Given the description of an element on the screen output the (x, y) to click on. 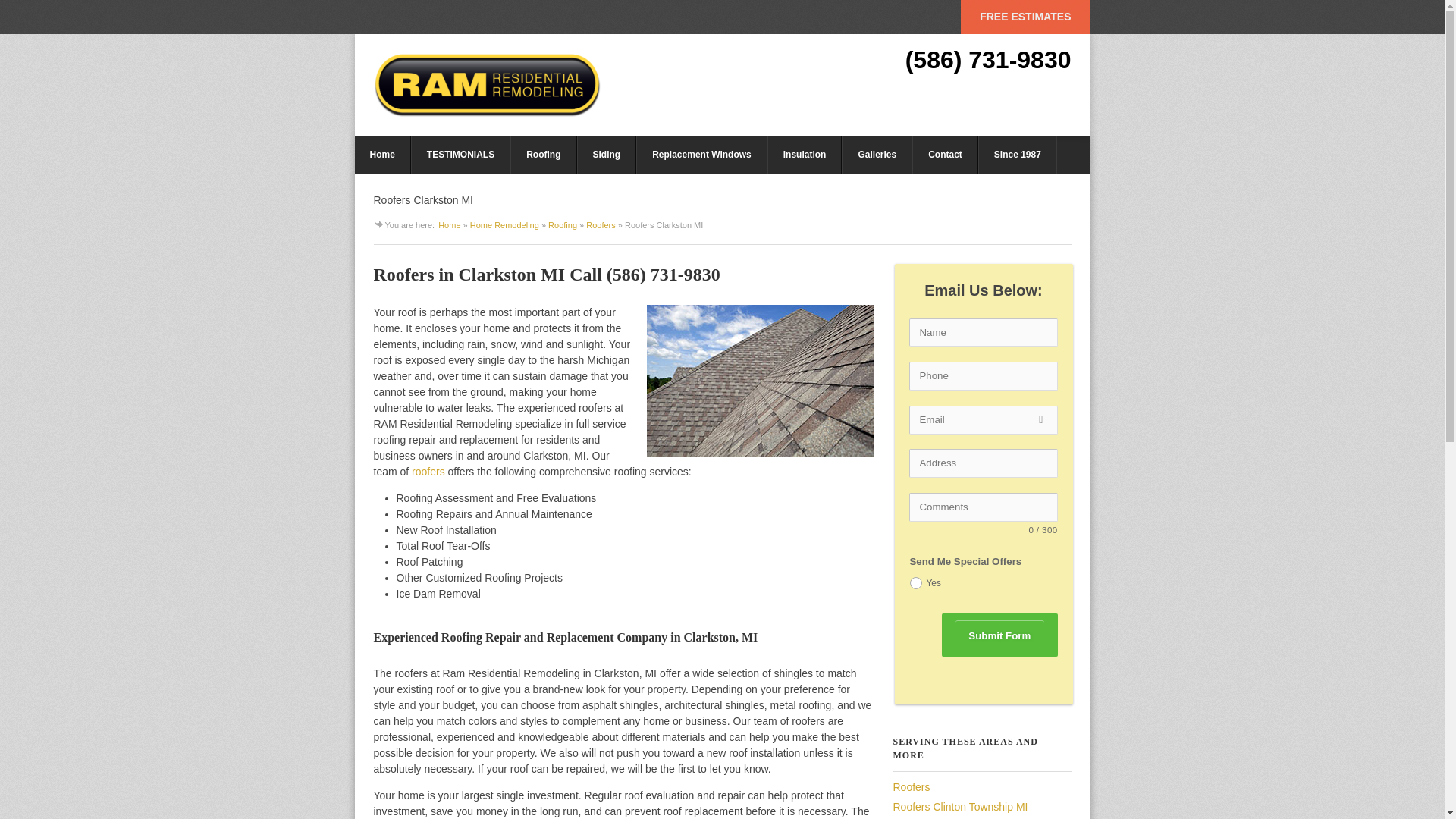
roofers (428, 471)
Roofers (600, 225)
Yes (915, 582)
Galleries (876, 154)
Roofing (562, 225)
TESTIMONIALS (460, 154)
FREE ESTIMATES (1024, 17)
Siding (606, 154)
Roofing (543, 154)
Replacement Windows (701, 154)
